Given the description of an element on the screen output the (x, y) to click on. 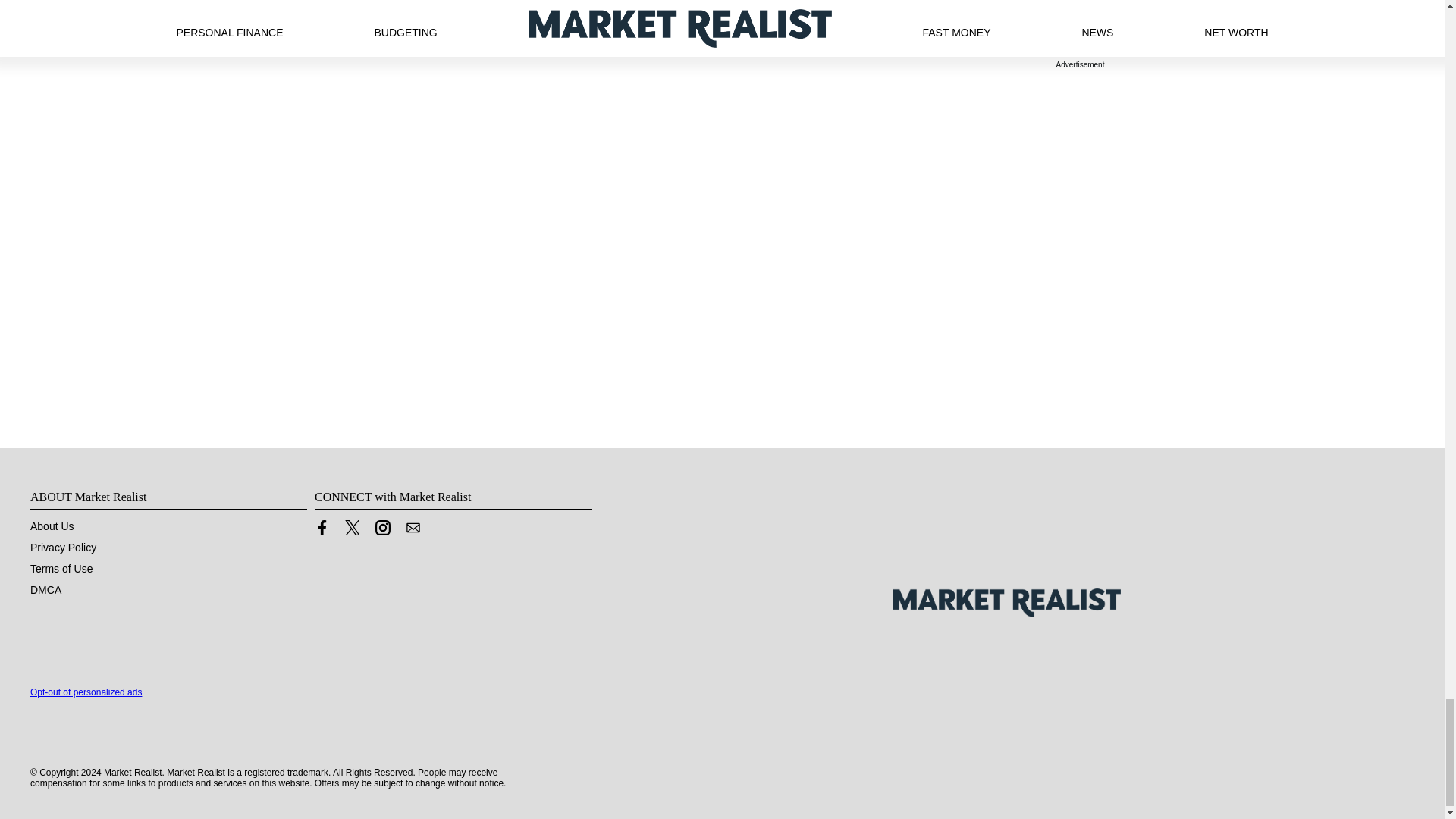
Link to X (352, 527)
About Us (52, 526)
Privacy Policy (63, 547)
DMCA (45, 589)
About Us (52, 526)
Link to Instagram (382, 527)
Link to Facebook (322, 531)
DMCA (45, 589)
Terms of Use (61, 568)
Terms of Use (61, 568)
Privacy Policy (63, 547)
Link to X (352, 531)
Contact us by Email (413, 527)
Link to Facebook (322, 527)
